Given the description of an element on the screen output the (x, y) to click on. 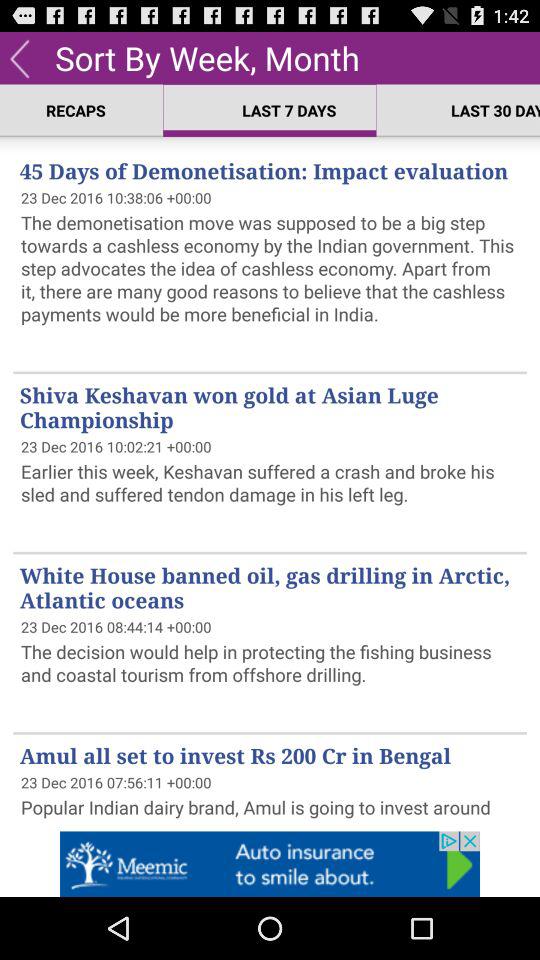
opens the advertisement (270, 864)
